Given the description of an element on the screen output the (x, y) to click on. 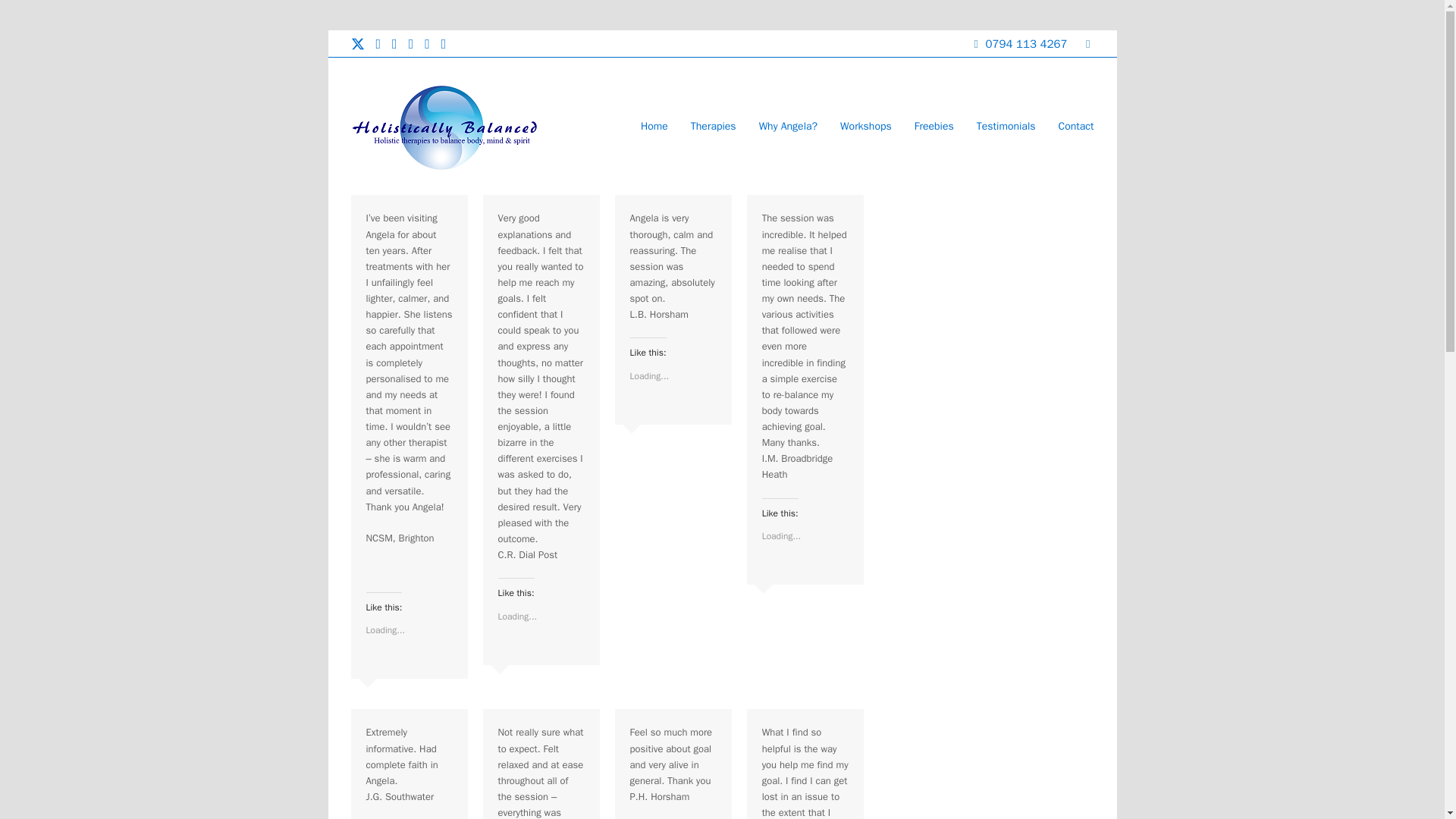
Home (653, 126)
Therapies (713, 126)
Why Angela? (788, 126)
Testimonials (1005, 126)
Workshops (865, 126)
Contact (1075, 126)
Freebies (933, 126)
